Given the description of an element on the screen output the (x, y) to click on. 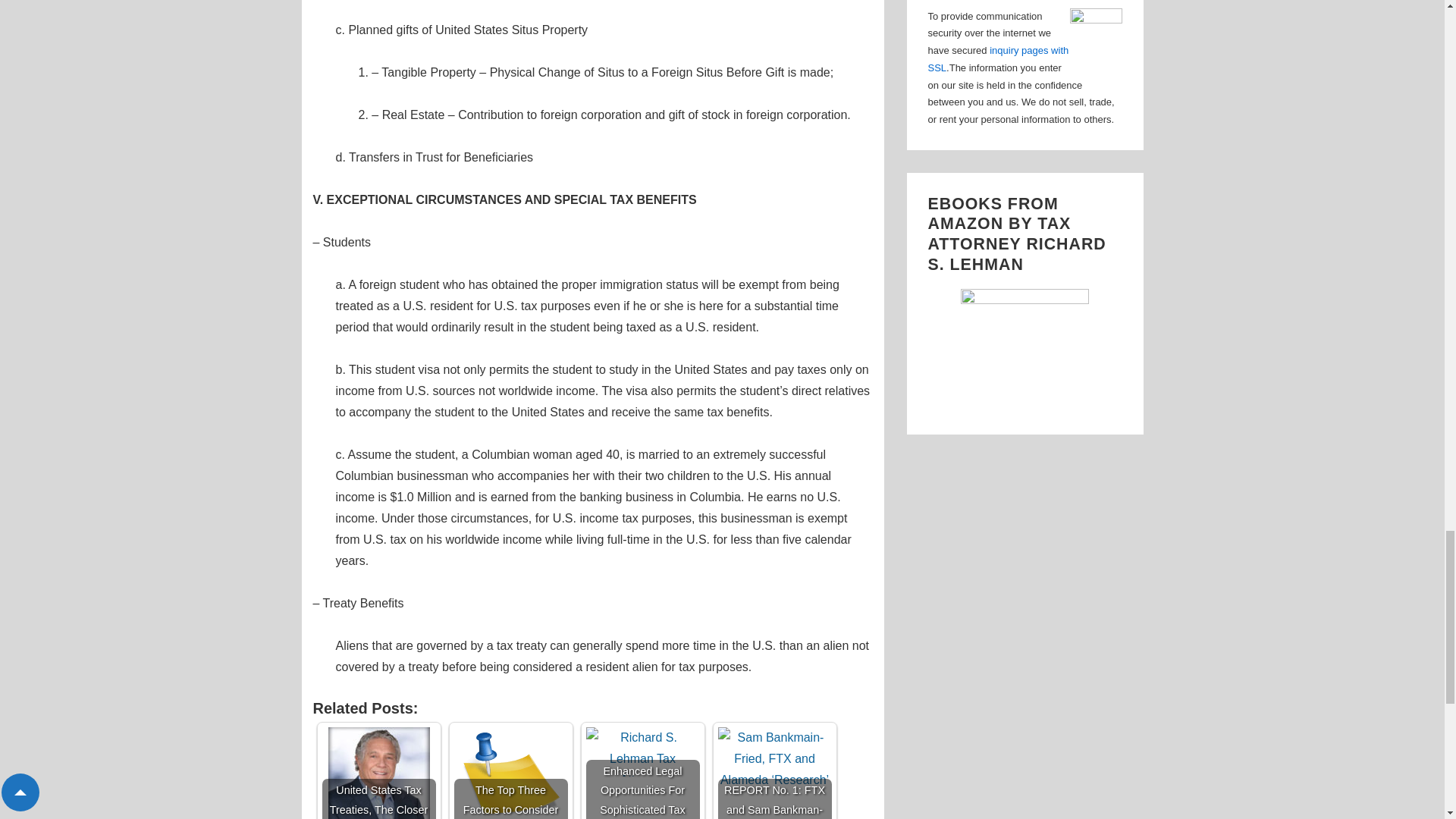
Contact Richard S Lehman Tax Attorney (998, 59)
Enhanced Legal Opportunities For Sophisticated Tax Cases (641, 751)
Enhanced Legal Opportunities For Sophisticated Tax Cases (641, 773)
